Given the description of an element on the screen output the (x, y) to click on. 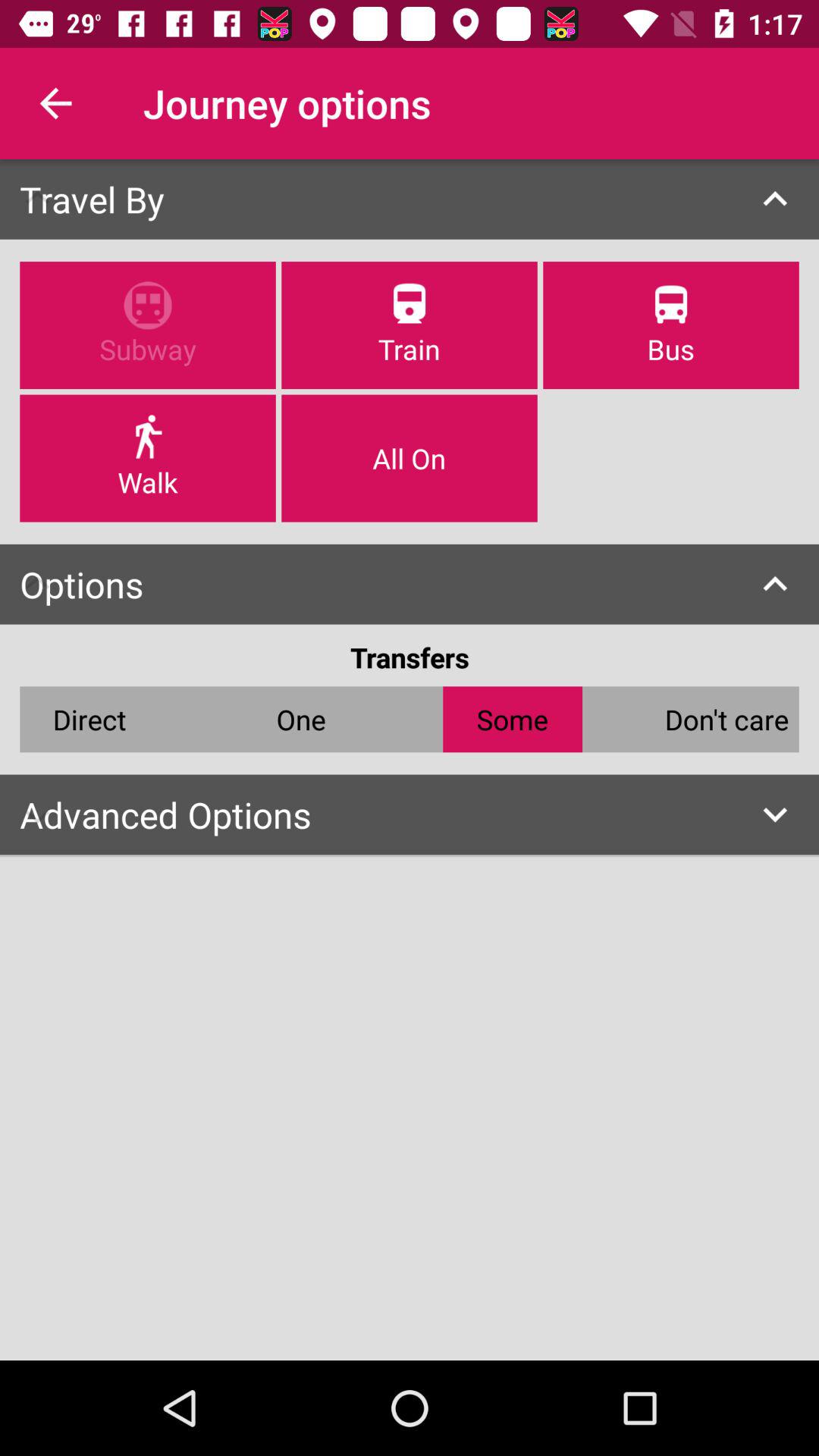
open the item next to journey options item (55, 103)
